Given the description of an element on the screen output the (x, y) to click on. 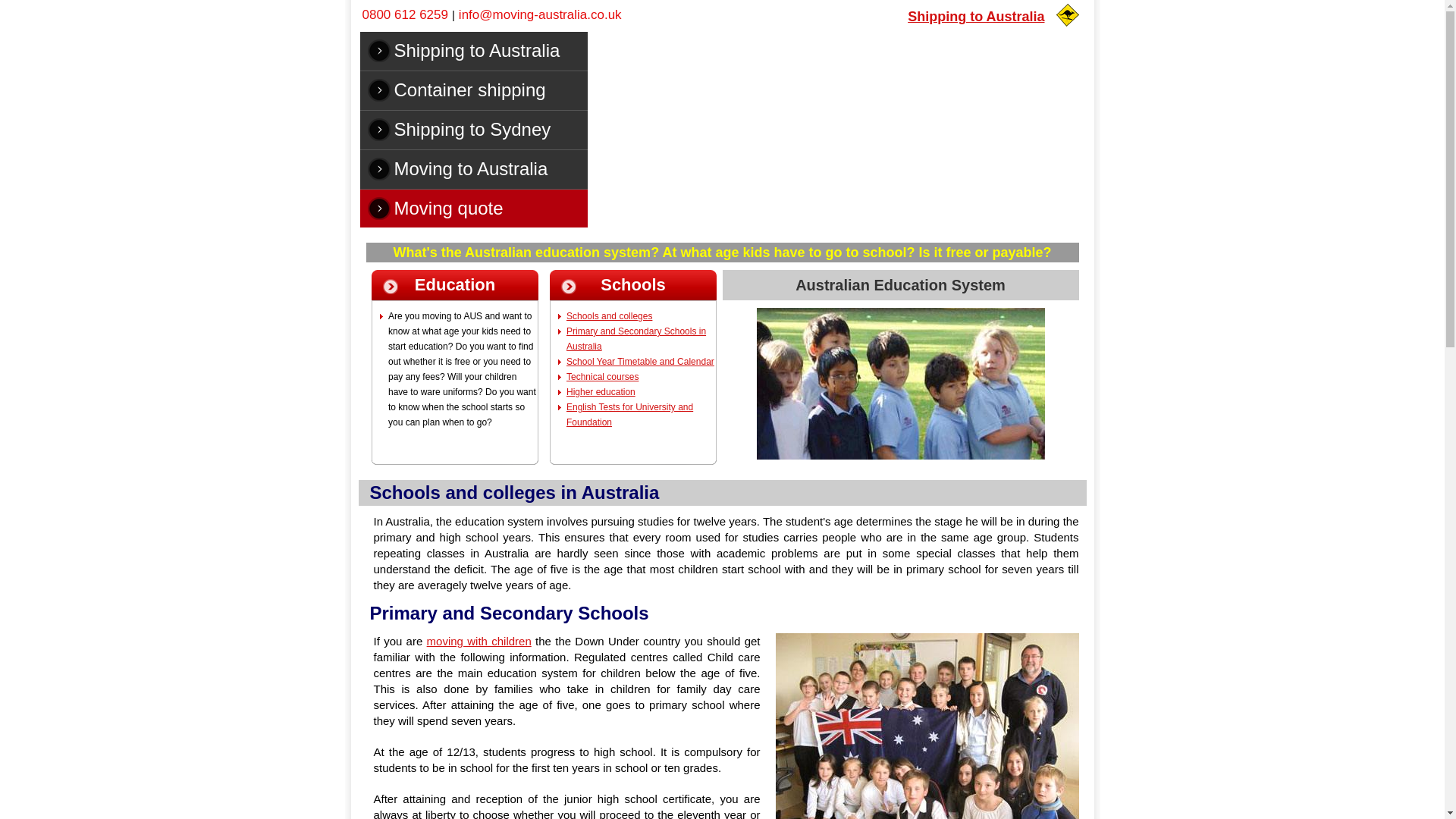
Moving quote (476, 208)
Shipping to Australia (476, 50)
Schools and colleges (609, 316)
0800 612 6259 (405, 14)
Schools and colleges (609, 316)
Moving quote (476, 208)
Australian education system (901, 383)
Moving to Perth (476, 89)
Shipping quote (539, 14)
Moving to Australia (476, 168)
